Given the description of an element on the screen output the (x, y) to click on. 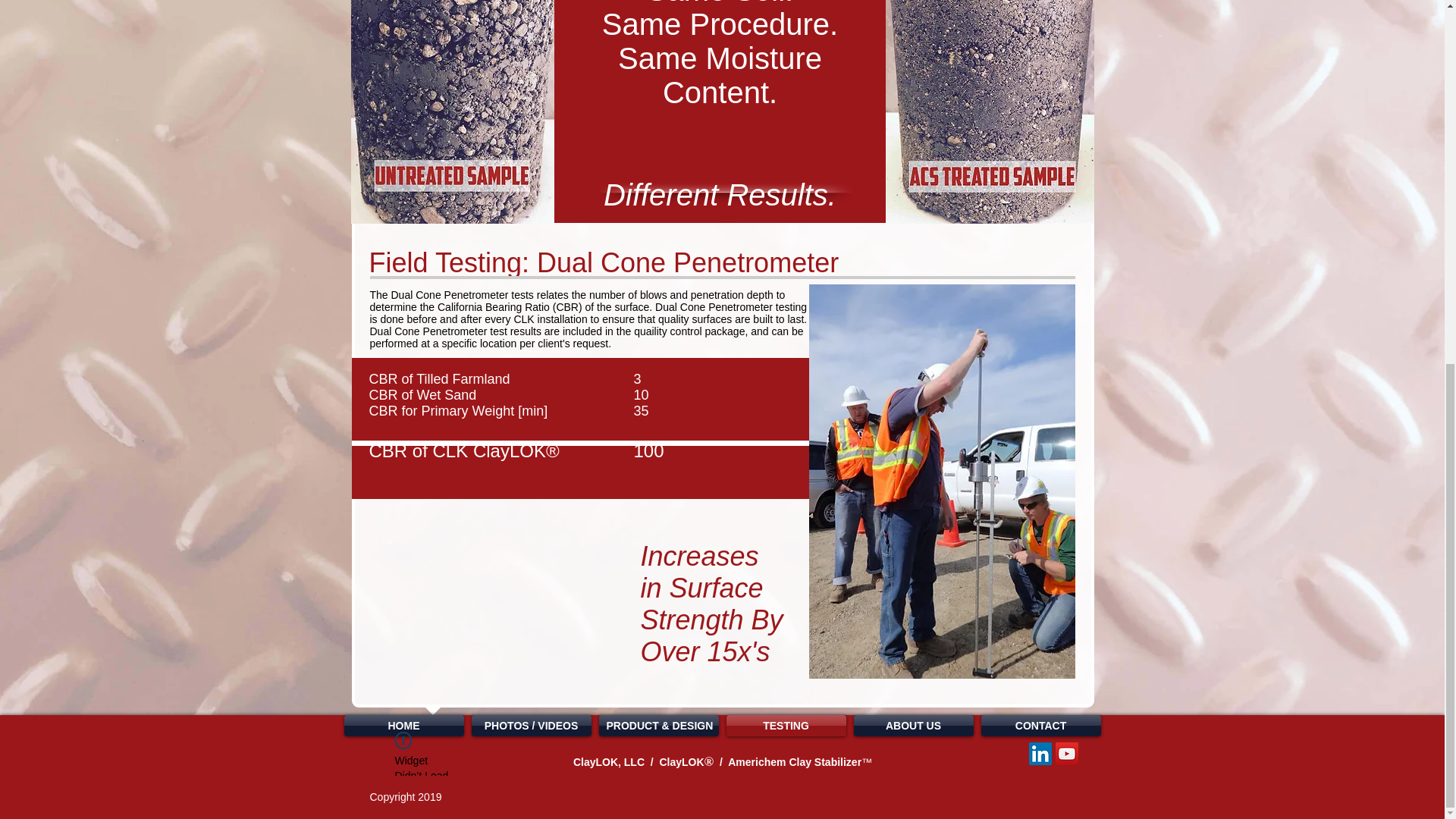
External YouTube (491, 607)
CONTACT (1039, 725)
HOME (403, 725)
TESTING (785, 725)
ClayLOK (681, 761)
